Given the description of an element on the screen output the (x, y) to click on. 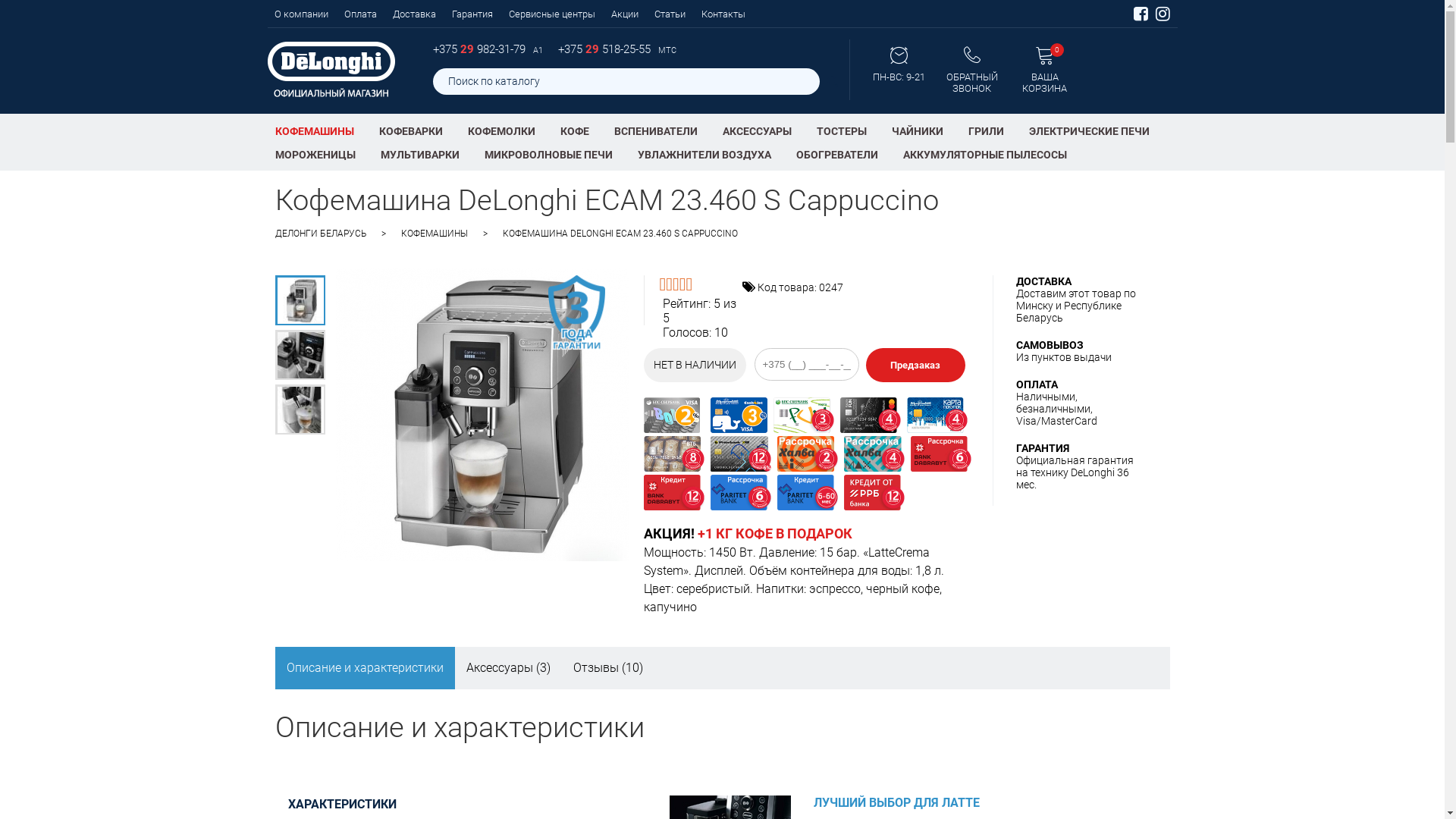
+375 29 982-31-79 Element type: text (479, 49)
delonghi-ecam-23460s_a.jpg Element type: hover (299, 300)
delonghi-ecam-23460s_c.jpg Element type: hover (299, 409)
+375 29 518-25-55 Element type: text (605, 49)
delonghi-ecam-23460s_b.jpg Element type: hover (299, 354)
